Given the description of an element on the screen output the (x, y) to click on. 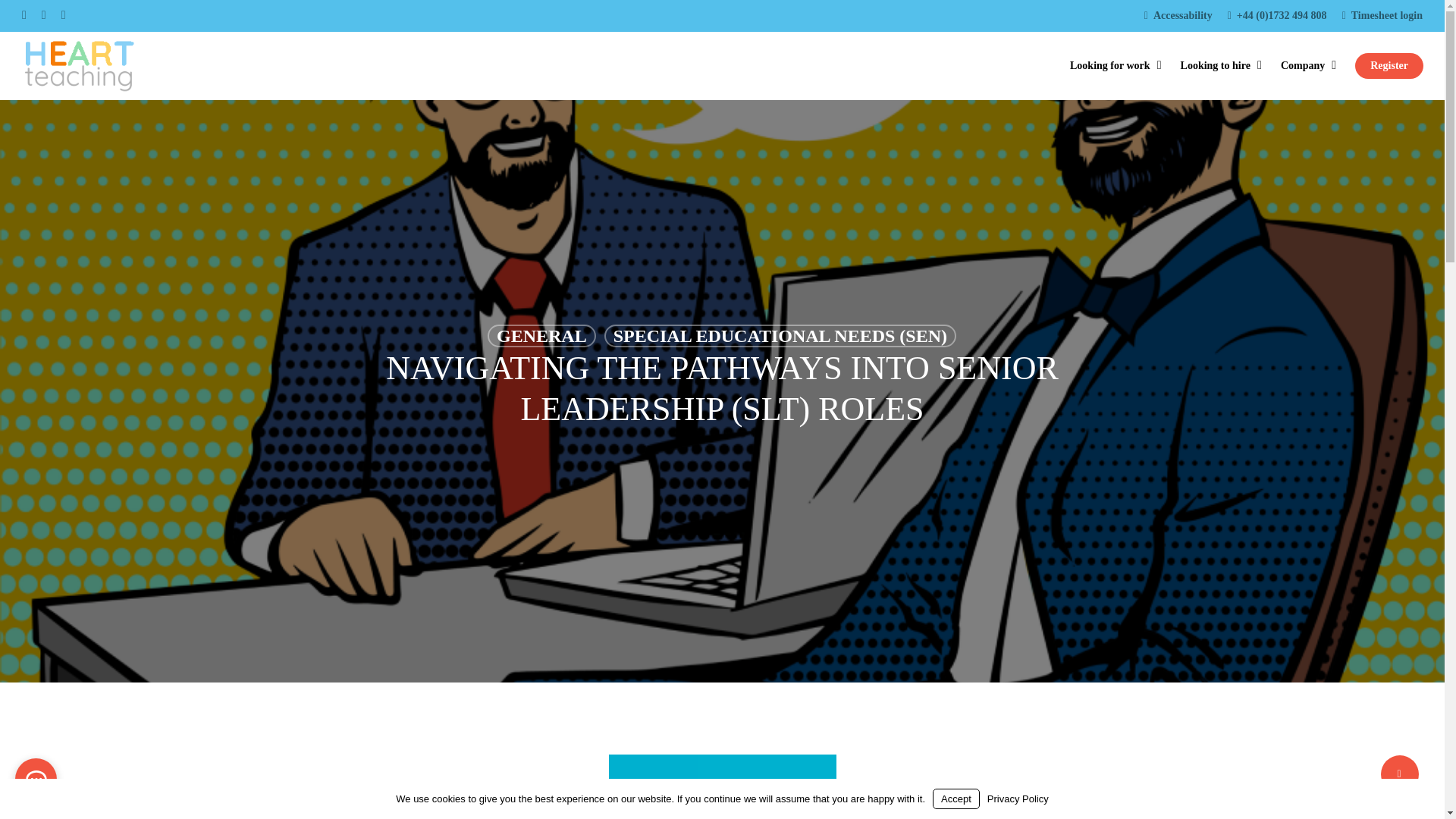
Looking for work (1117, 65)
Timesheet login (1382, 15)
Accessability (1178, 15)
Company (1310, 65)
Looking to hire (1222, 65)
Register (1389, 65)
GENERAL (541, 335)
